Given the description of an element on the screen output the (x, y) to click on. 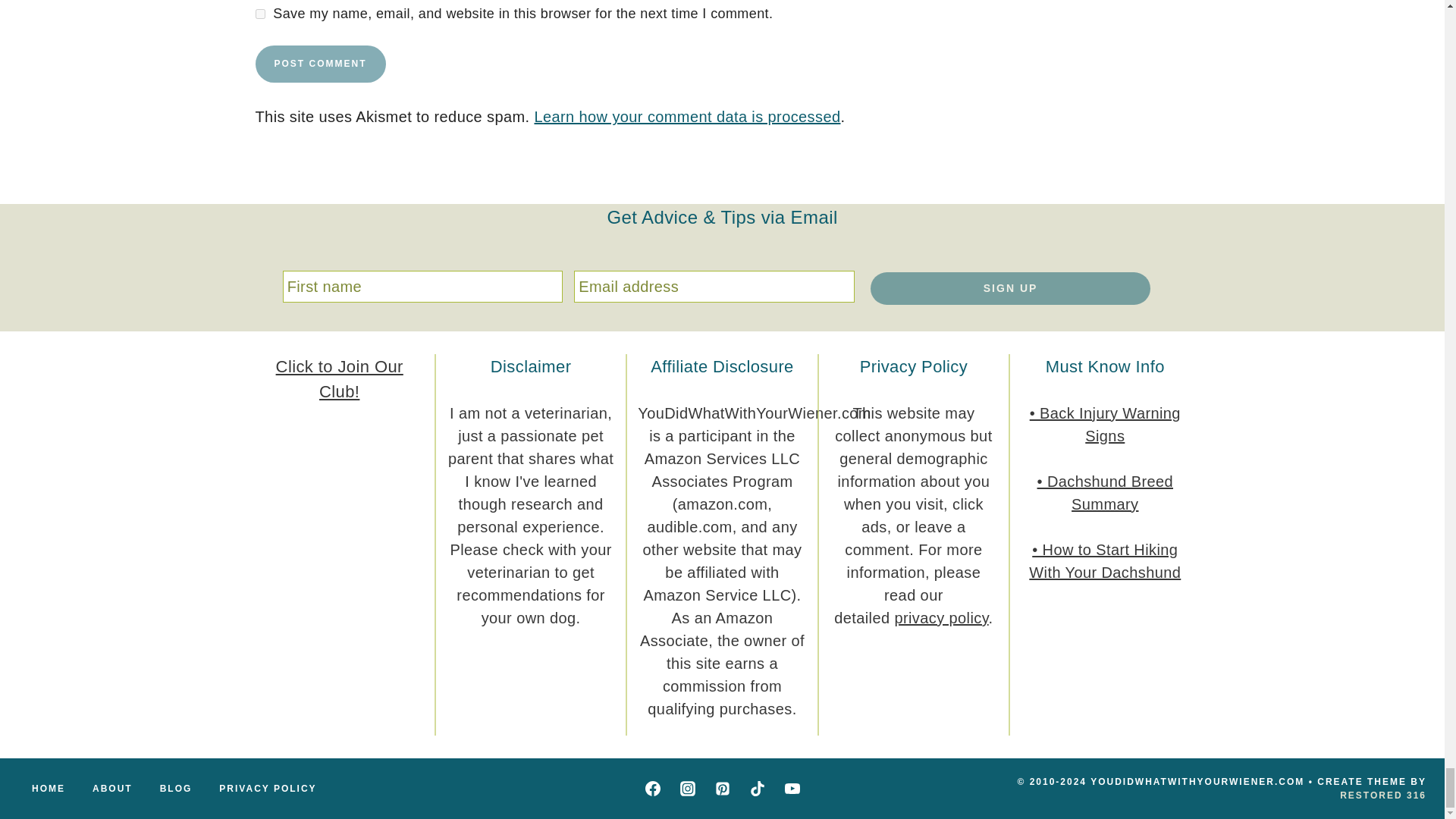
Post Comment (319, 63)
yes (259, 13)
Sign up (1010, 287)
